Given the description of an element on the screen output the (x, y) to click on. 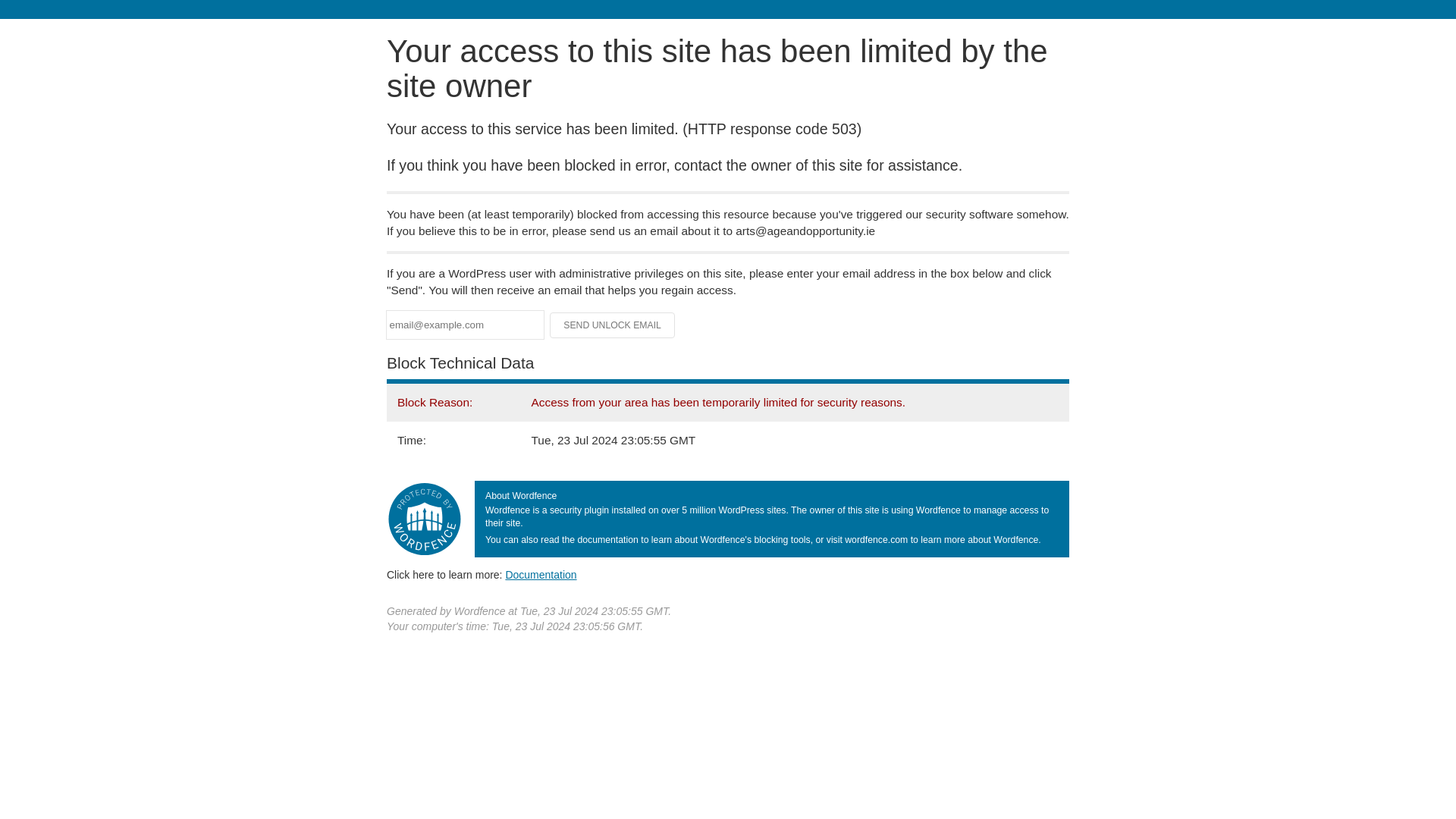
Send Unlock Email (612, 325)
Documentation (540, 574)
Send Unlock Email (612, 325)
